Given the description of an element on the screen output the (x, y) to click on. 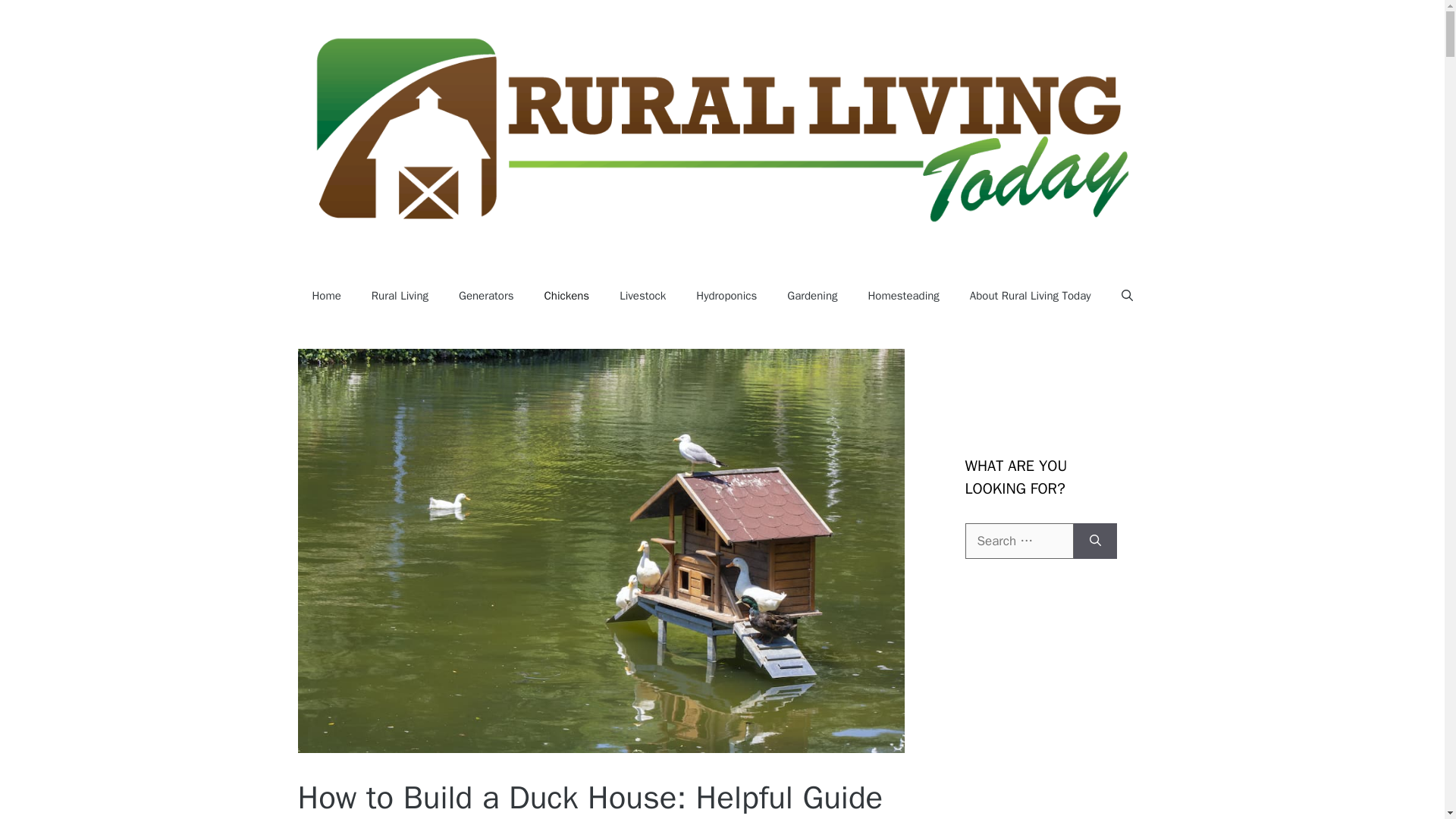
Generators (486, 295)
About Rural Living Today (1030, 295)
Home (326, 295)
Gardening (811, 295)
Livestock (642, 295)
Rural Living (400, 295)
Chickens (567, 295)
Homesteading (902, 295)
Hydroponics (726, 295)
